Given the description of an element on the screen output the (x, y) to click on. 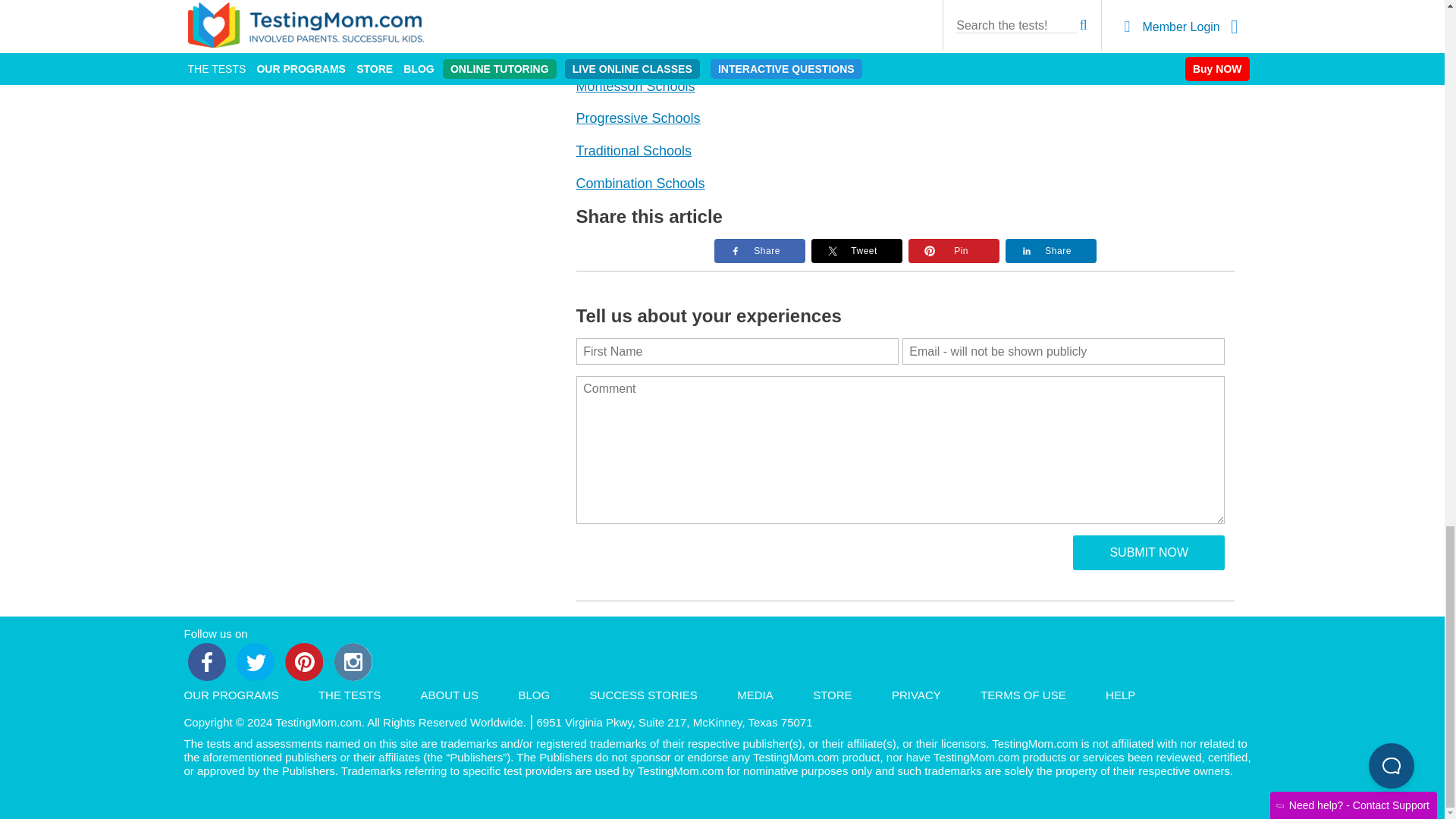
Montessori Schools (635, 86)
SUBMIT NOW (1148, 552)
Traditional Schools (633, 150)
Progressive Preschool (638, 118)
Combination Schools (640, 183)
